Given the description of an element on the screen output the (x, y) to click on. 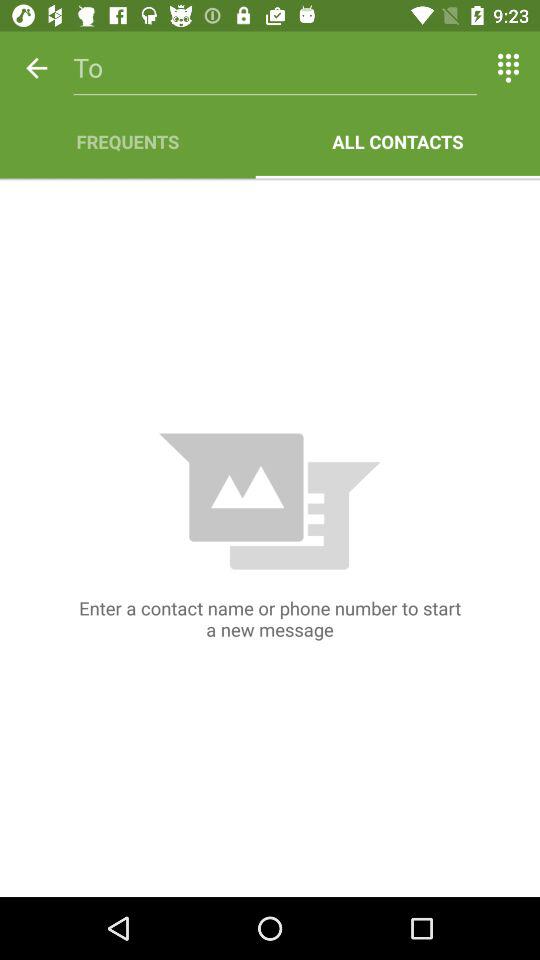
flip until all contacts app (397, 141)
